Given the description of an element on the screen output the (x, y) to click on. 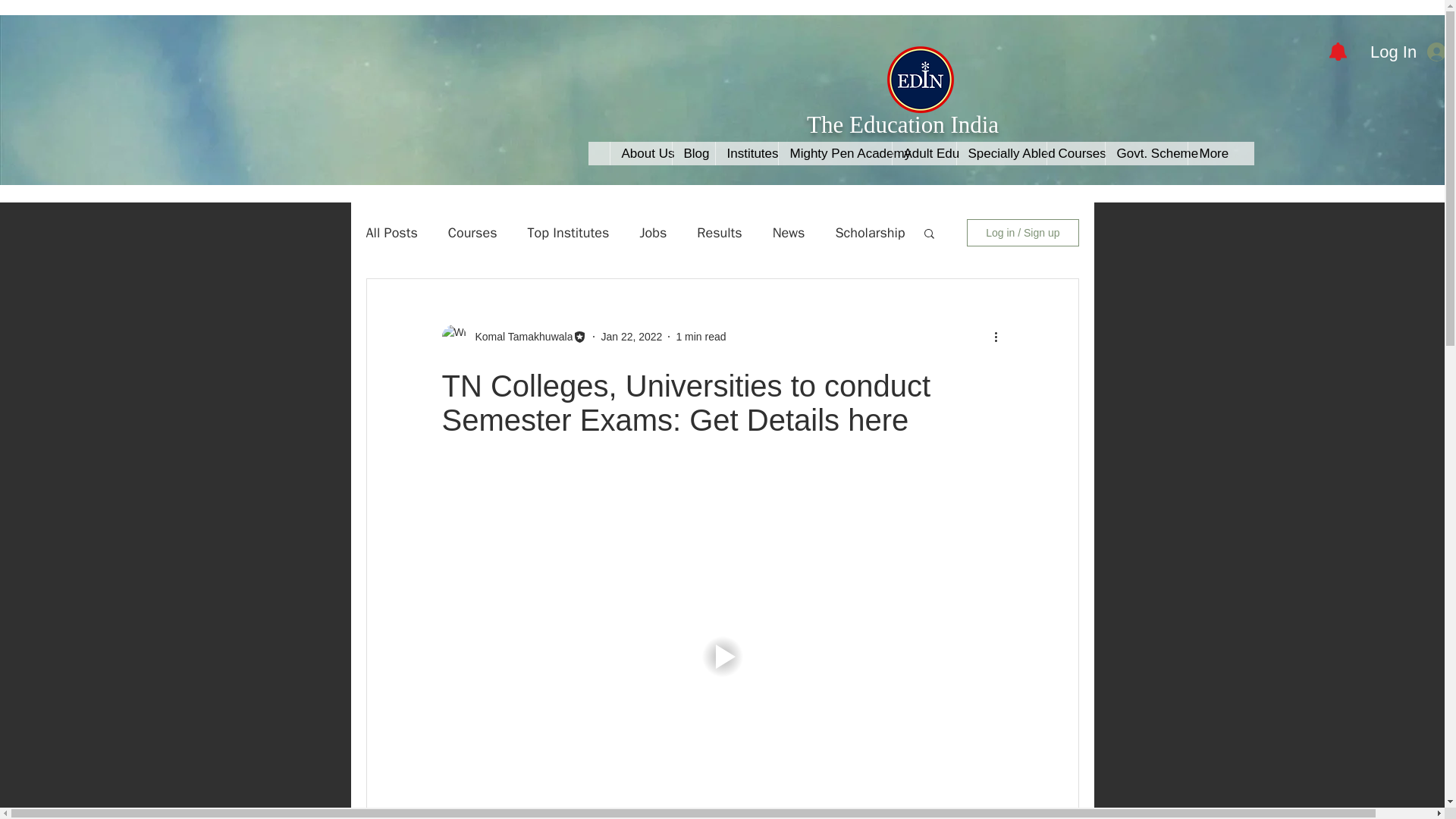
Blog (692, 153)
Specially Abled (1000, 153)
Mighty Pen Academy (834, 153)
Institutes (745, 153)
About Us (640, 153)
Adult Edu (923, 153)
Komal Tamakhuwala (518, 336)
LOGO EDIN Final logo transparent.png (919, 78)
Courses (1075, 153)
1 min read (700, 336)
